Given the description of an element on the screen output the (x, y) to click on. 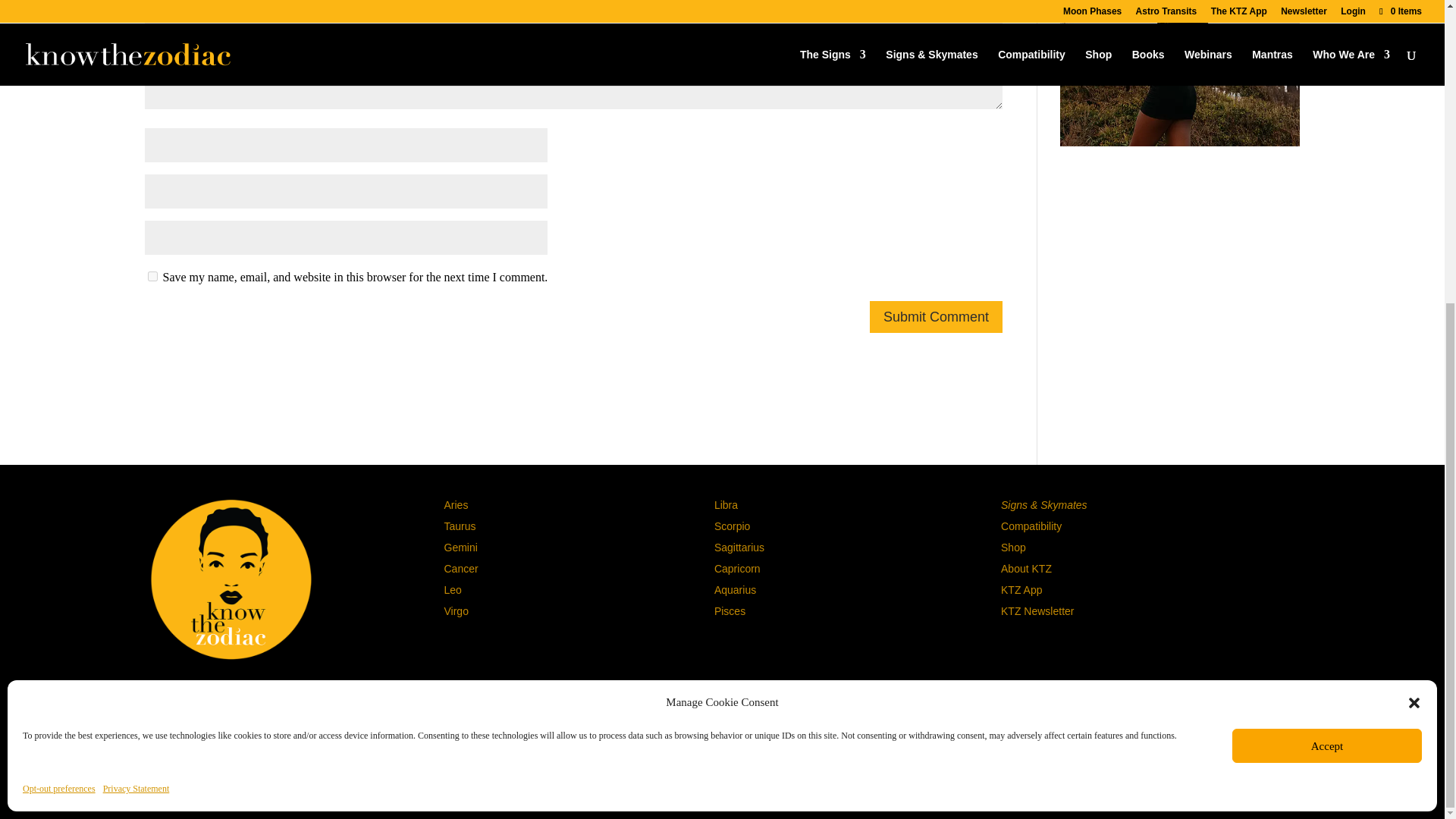
Accept (1326, 270)
yes (152, 276)
RAM Creates design portfolio (925, 778)
Opt-out preferences (59, 314)
Follow on Facebook (257, 693)
Follow on Instagram (203, 693)
Submit Comment (936, 316)
cropped-know-the-zodiac-ogo-cirlcle-512.png (230, 579)
Follow on Twitter (230, 693)
Privacy Statement (136, 314)
